Given the description of an element on the screen output the (x, y) to click on. 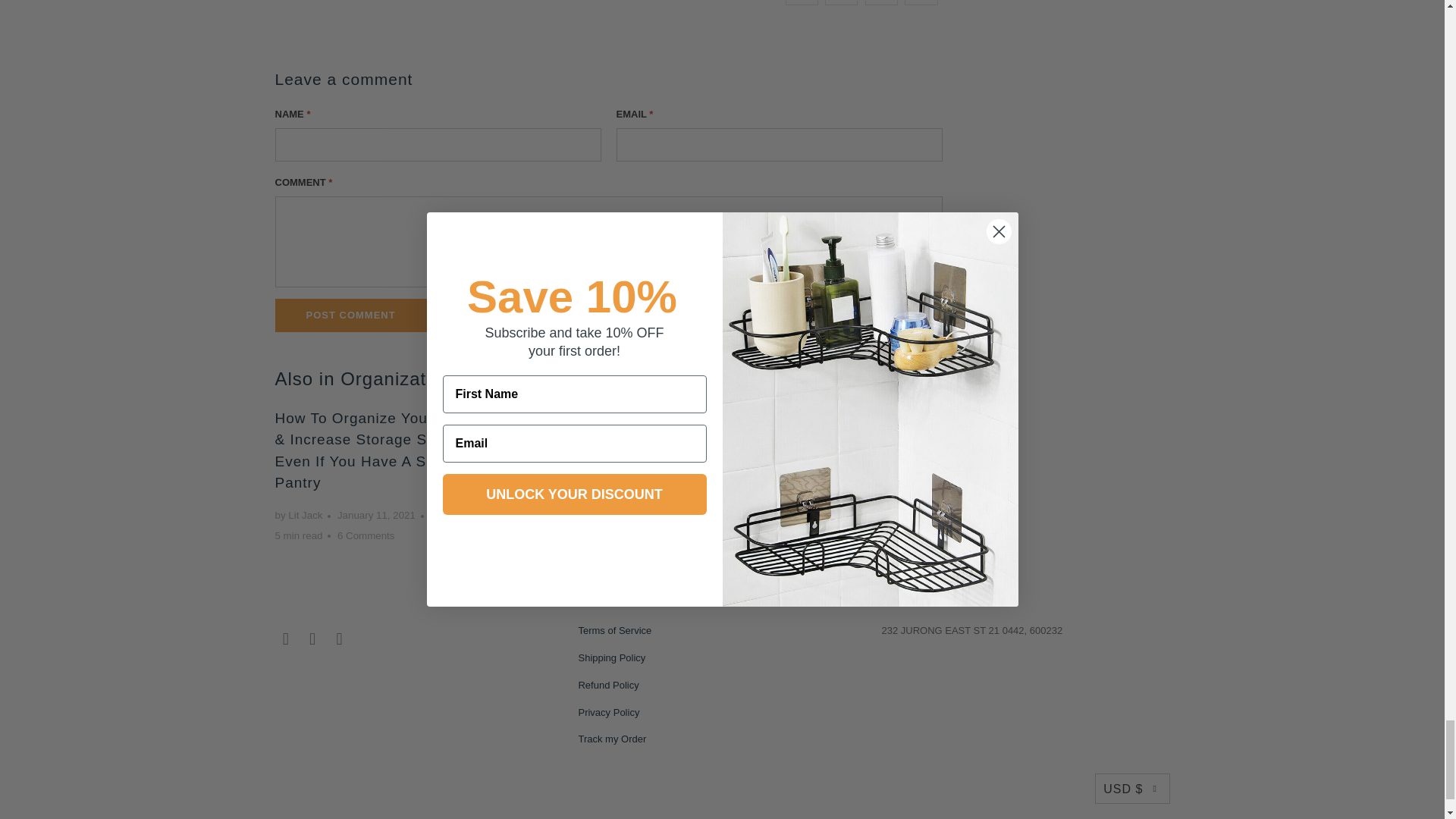
Share this on Twitter (802, 2)
Share this on Facebook (841, 2)
Share this on Pinterest (881, 2)
Email this to a friend (920, 2)
Post comment (350, 315)
